Given the description of an element on the screen output the (x, y) to click on. 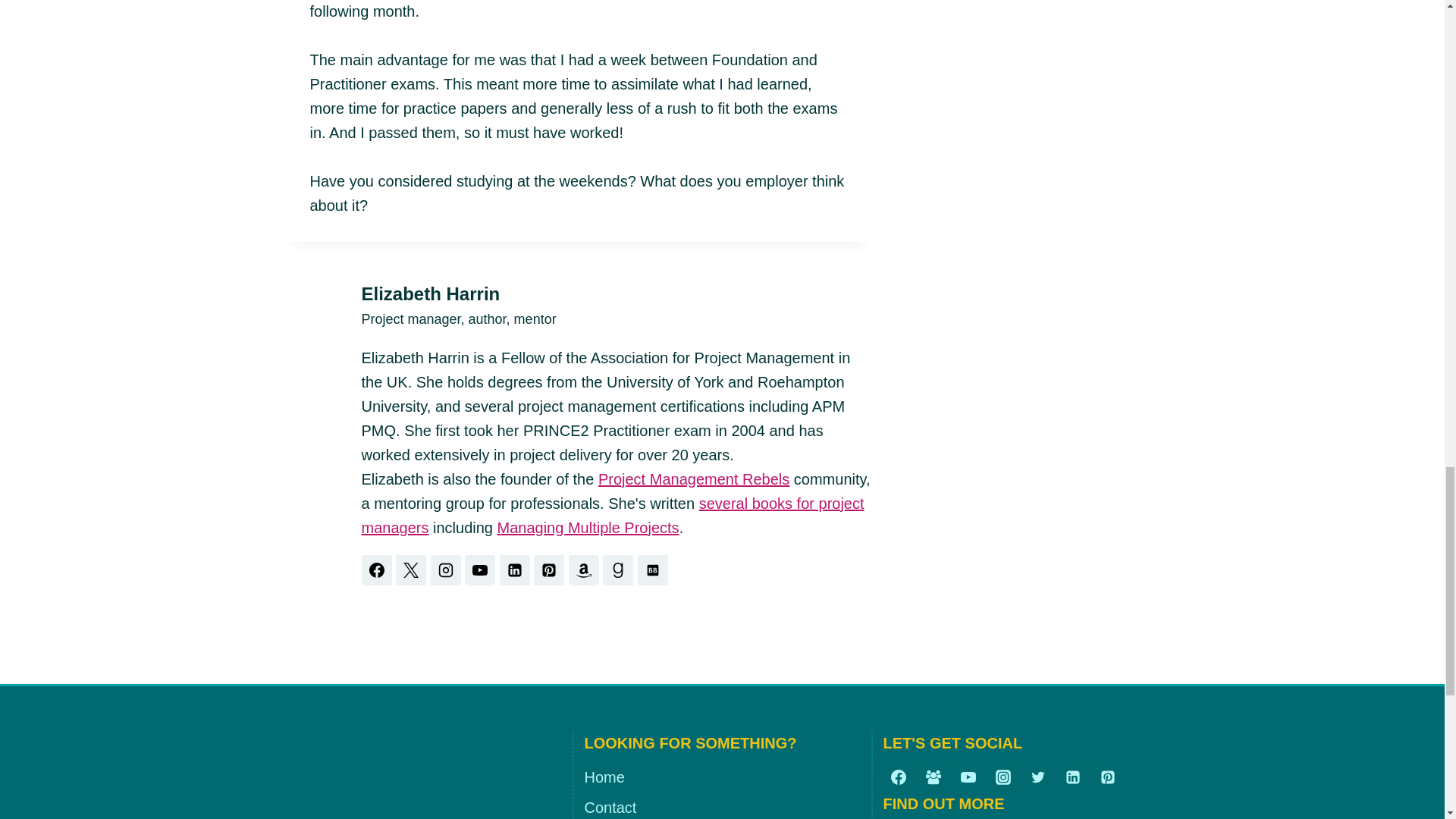
Follow Elizabeth Harrin on Facebook (376, 570)
Follow Elizabeth Harrin on Linkedin (514, 570)
Follow Elizabeth Harrin on X formerly Twitter (411, 570)
Follow Elizabeth Harrin on Bookbub (652, 570)
Follow Elizabeth Harrin on Youtube (479, 570)
Follow Elizabeth Harrin on Instagram (445, 570)
Follow Elizabeth Harrin on Amazon (583, 570)
Posts by Elizabeth Harrin (430, 293)
Follow Elizabeth Harrin on Goodreads (617, 570)
Follow Elizabeth Harrin on Pinterest (549, 570)
